Given the description of an element on the screen output the (x, y) to click on. 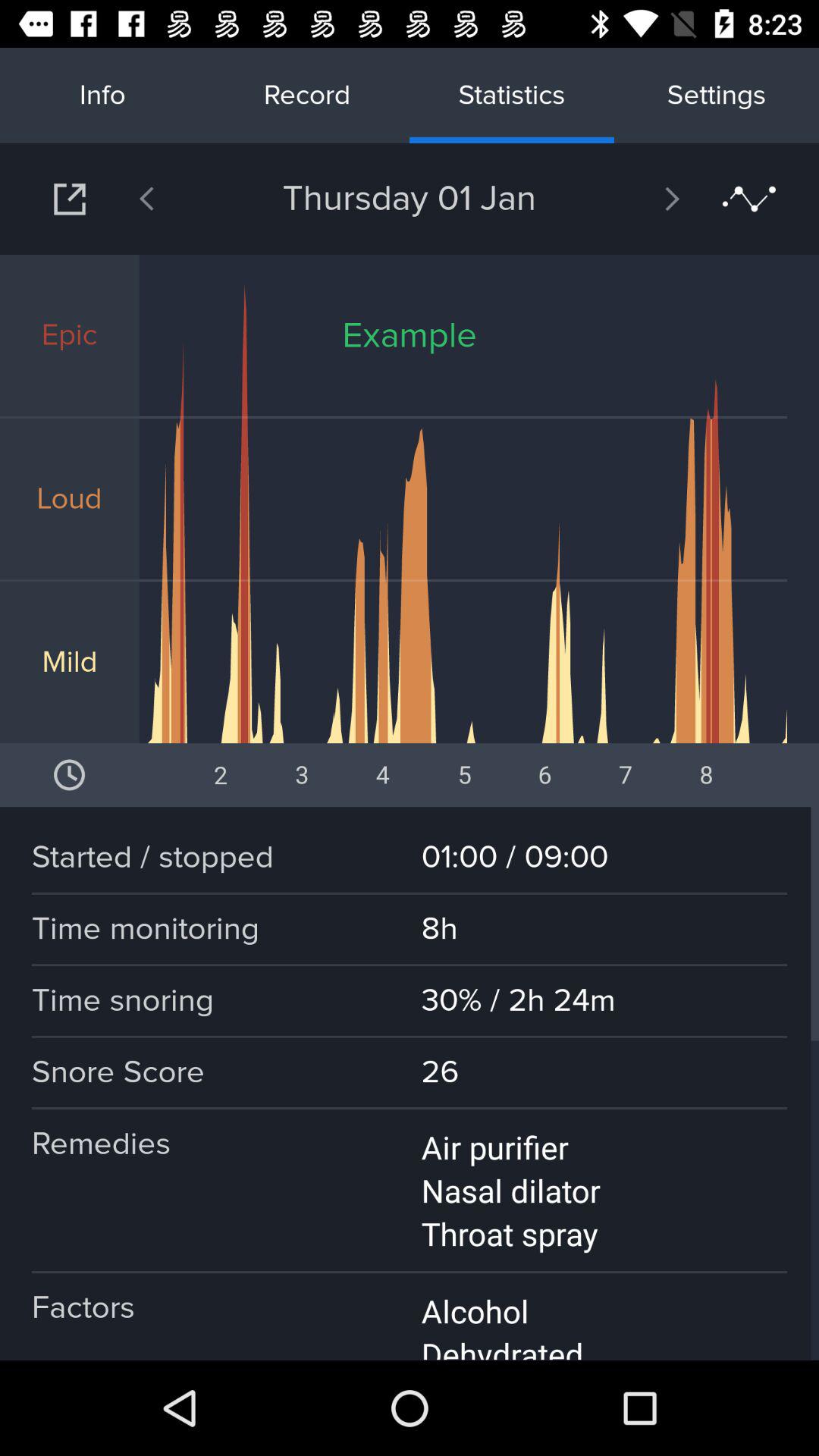
turn off the icon above epic item (69, 198)
